Given the description of an element on the screen output the (x, y) to click on. 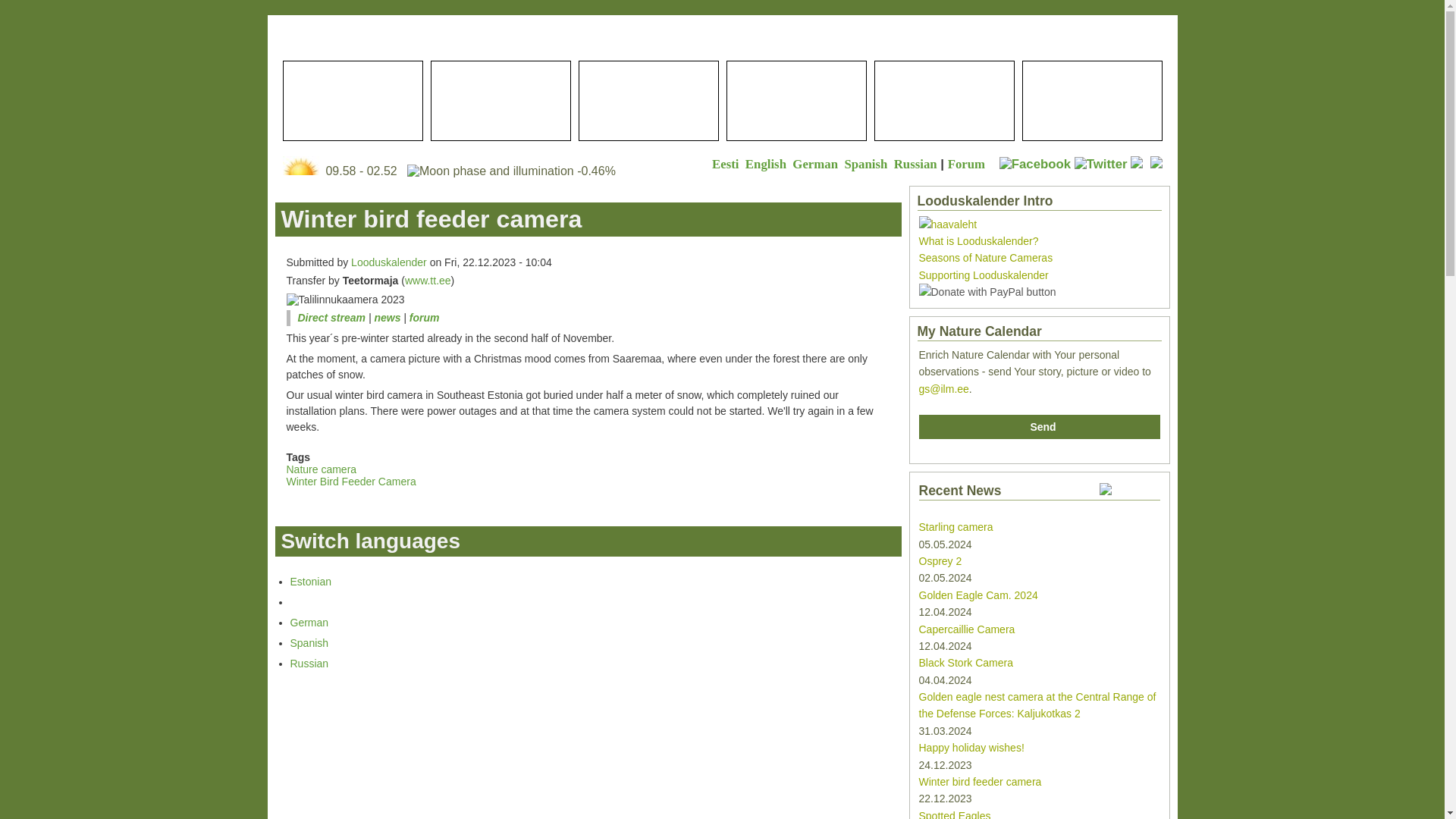
Golden Eagle Cam. 2024 (978, 594)
German (309, 622)
Spanish (309, 643)
German (815, 164)
Estonian (309, 581)
Nature camera (321, 469)
Russian (915, 164)
www.tt.ee (427, 280)
Looduskalender (388, 262)
Forum (966, 164)
PayPal - The safer, easier way to pay online! (987, 291)
What is Looduskalender? (978, 241)
Osprey 2 (940, 561)
Facebook (1034, 164)
Twitter (1100, 164)
